Given the description of an element on the screen output the (x, y) to click on. 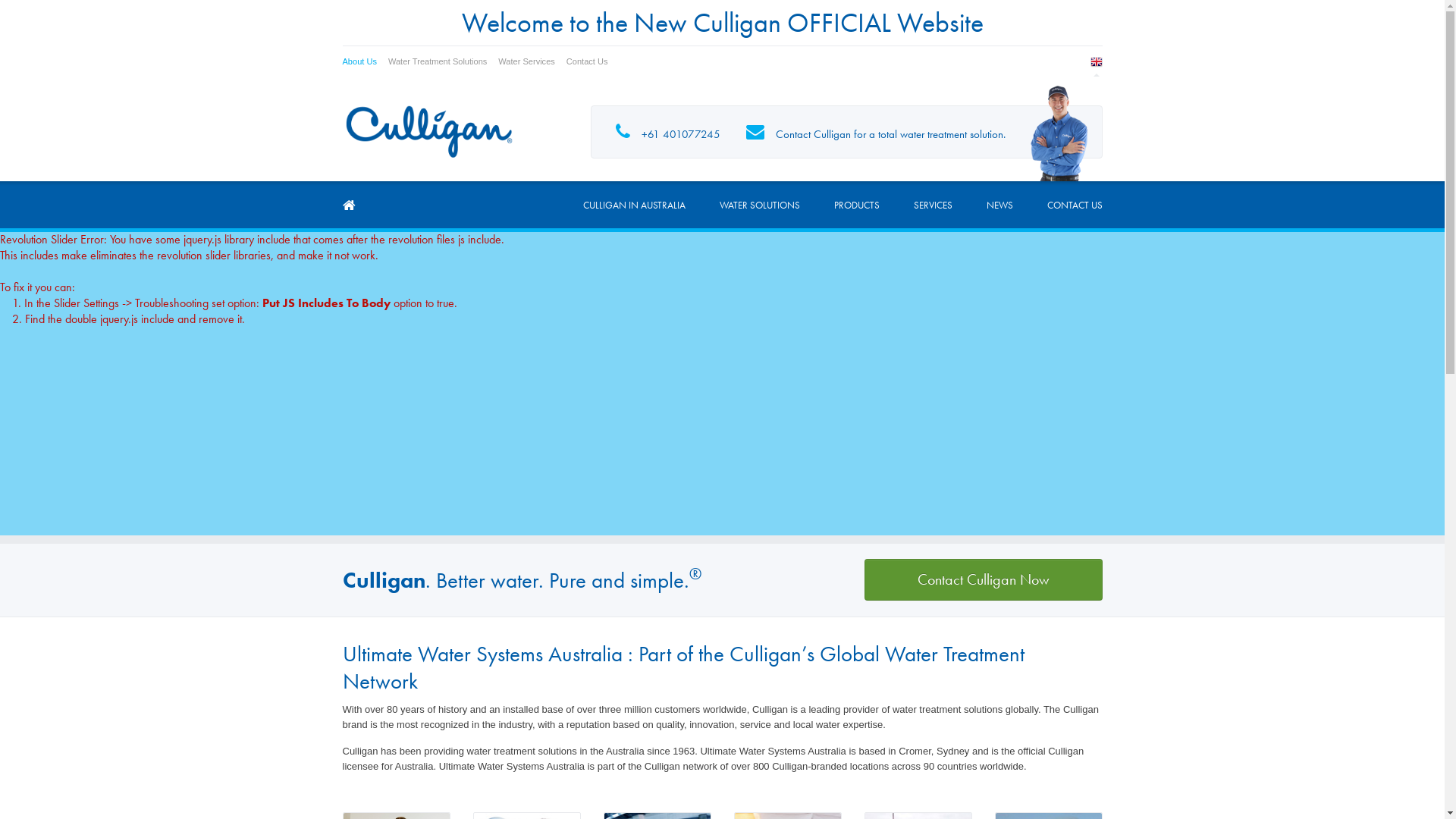
SERVICES Element type: text (932, 204)
CULLIGAN IN AUSTRALIA Element type: text (633, 204)
Water Treatment Solutions Element type: text (443, 61)
PRODUCTS Element type: text (856, 204)
WATER SOLUTIONS Element type: text (758, 204)
Contact Culligan Now Element type: text (983, 579)
About Us Element type: text (365, 61)
Contact Culligan for a total water treatment solution. Element type: text (874, 131)
Water Services Element type: text (531, 61)
NEWS Element type: text (998, 204)
CONTACT US Element type: text (1073, 204)
+61 401077245 Element type: text (667, 131)
Contact Us Element type: text (592, 61)
